Given the description of an element on the screen output the (x, y) to click on. 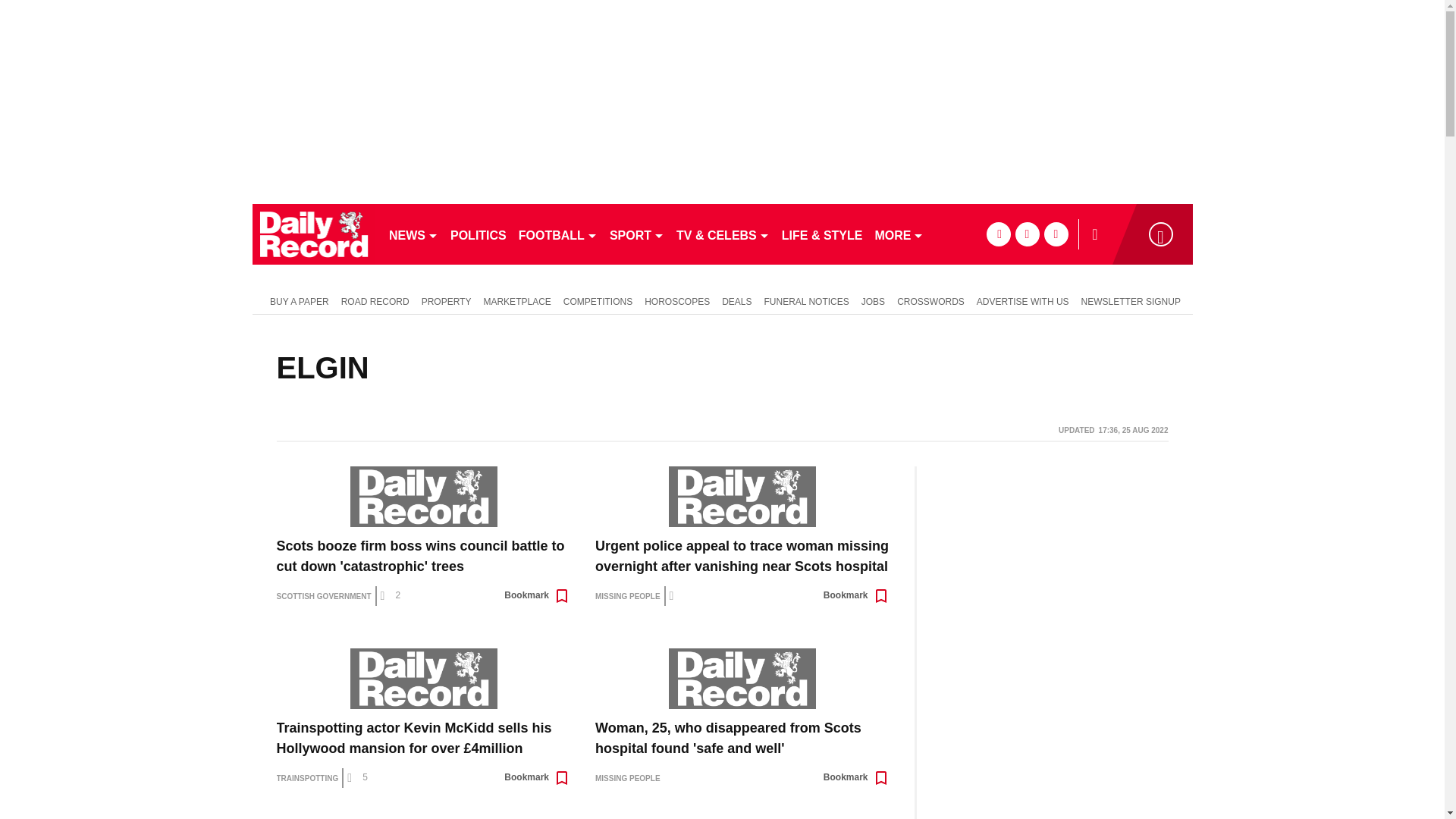
facebook (997, 233)
FOOTBALL (558, 233)
instagram (1055, 233)
POLITICS (478, 233)
dailyrecord (313, 233)
NEWS (413, 233)
twitter (1026, 233)
SPORT (636, 233)
